Given the description of an element on the screen output the (x, y) to click on. 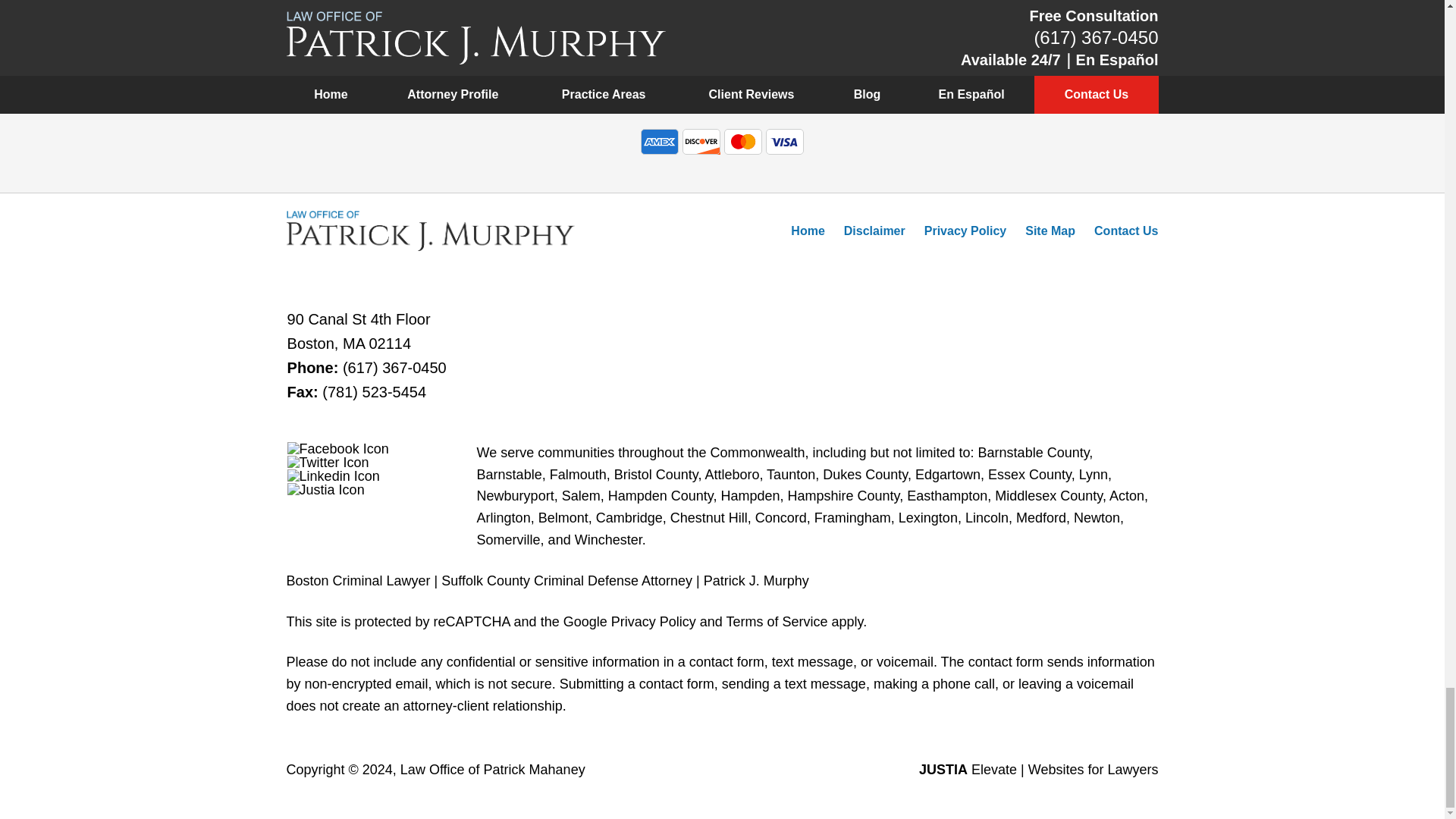
Facebook (337, 448)
Twitter (327, 462)
Linkedin (333, 476)
Justia (325, 489)
